Given the description of an element on the screen output the (x, y) to click on. 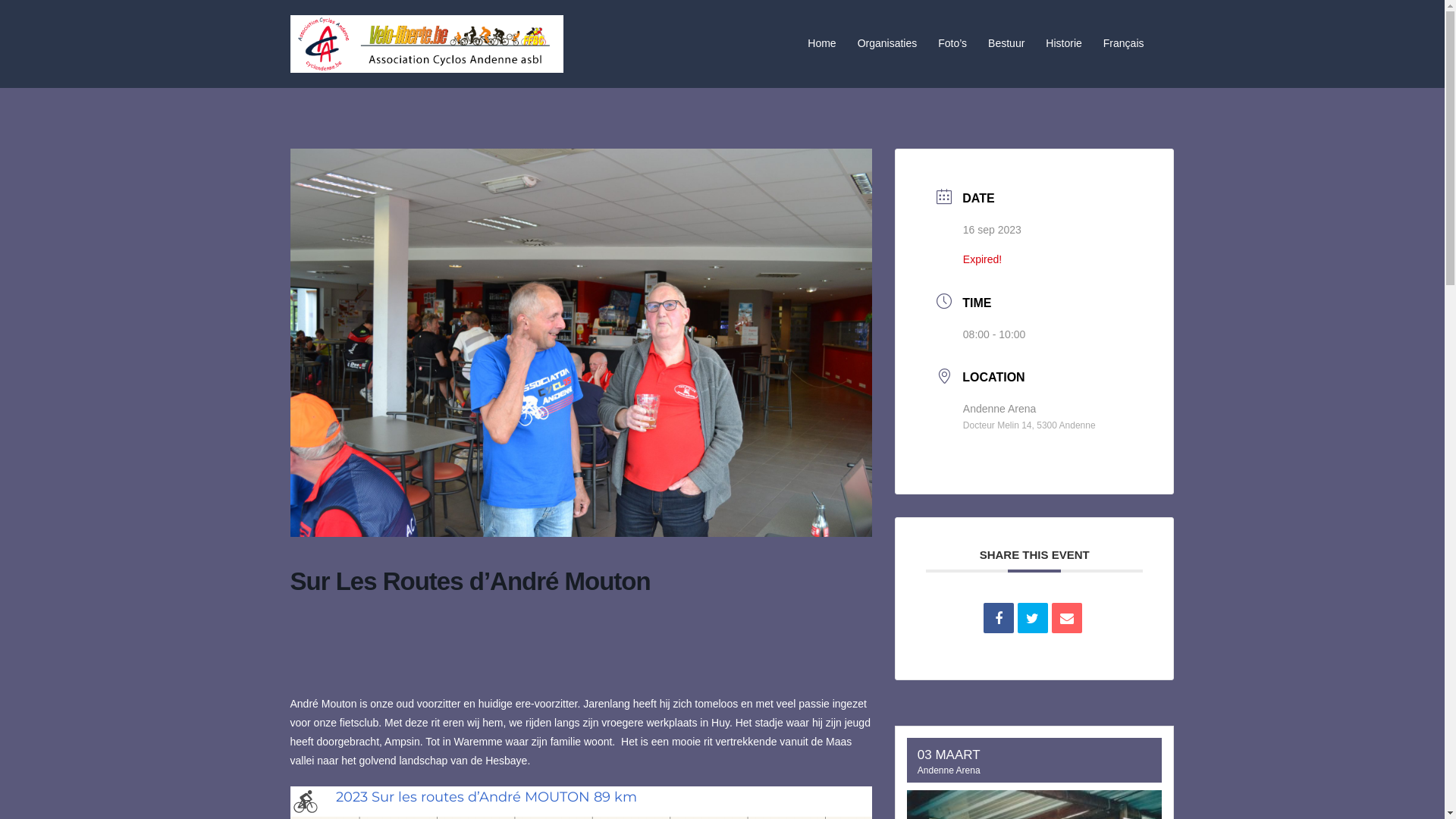
Organisaties Element type: text (887, 43)
Email Element type: hover (1066, 617)
Share on Facebook Element type: hover (998, 617)
Bestuur Element type: text (1006, 43)
Historie Element type: text (1063, 43)
Home Element type: text (821, 43)
Tweet Element type: hover (1032, 617)
Cyclandenne Element type: hover (425, 42)
